Given the description of an element on the screen output the (x, y) to click on. 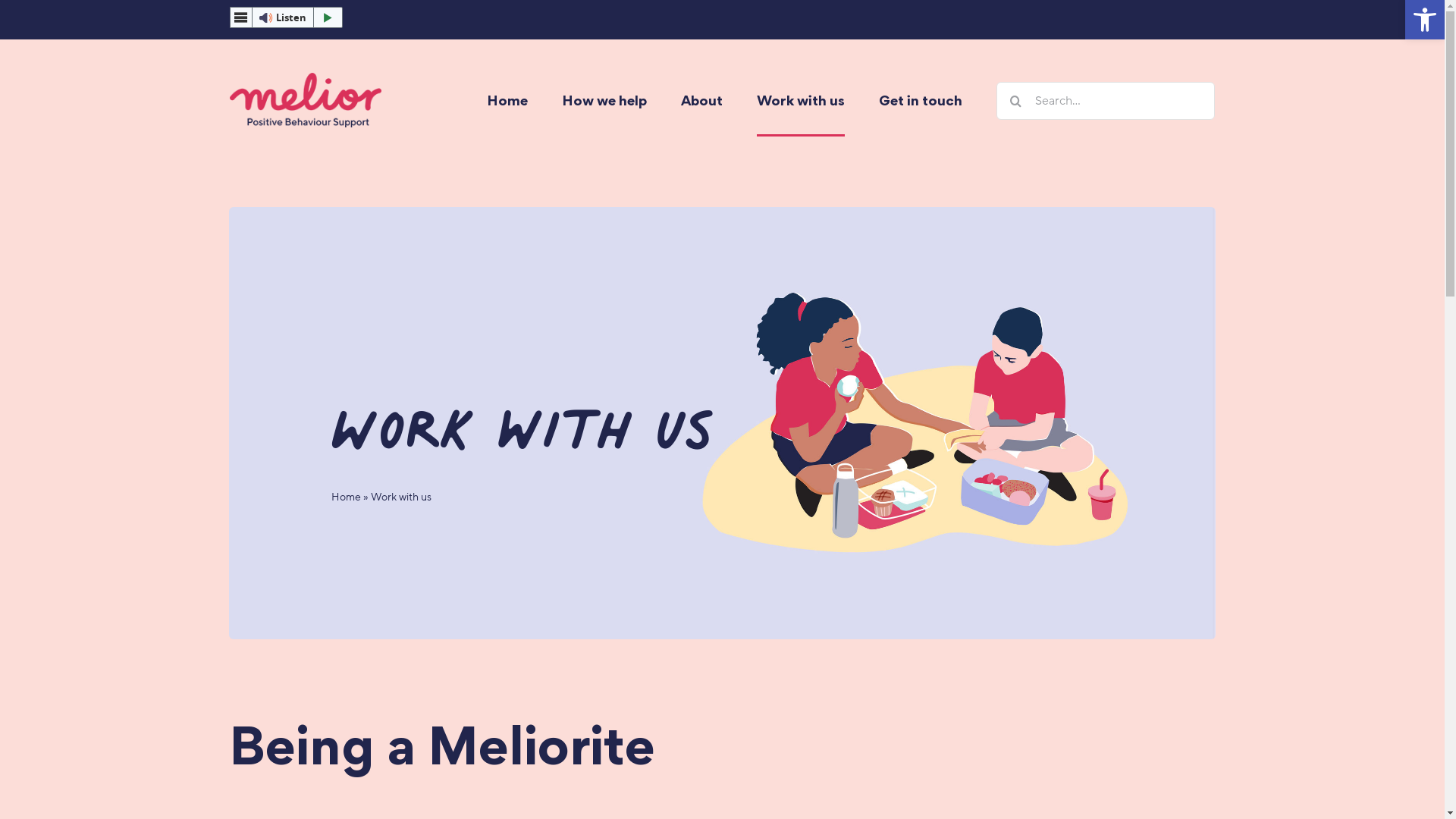
Open toolbar
Accessibility Element type: text (1424, 19)
Work with us Element type: text (800, 99)
Listen Element type: text (285, 17)
webReader menu Element type: hover (240, 17)
Get in touch Element type: text (920, 99)
How we help Element type: text (603, 99)
Home Element type: text (345, 497)
About Element type: text (701, 99)
Home Element type: text (506, 99)
